Given the description of an element on the screen output the (x, y) to click on. 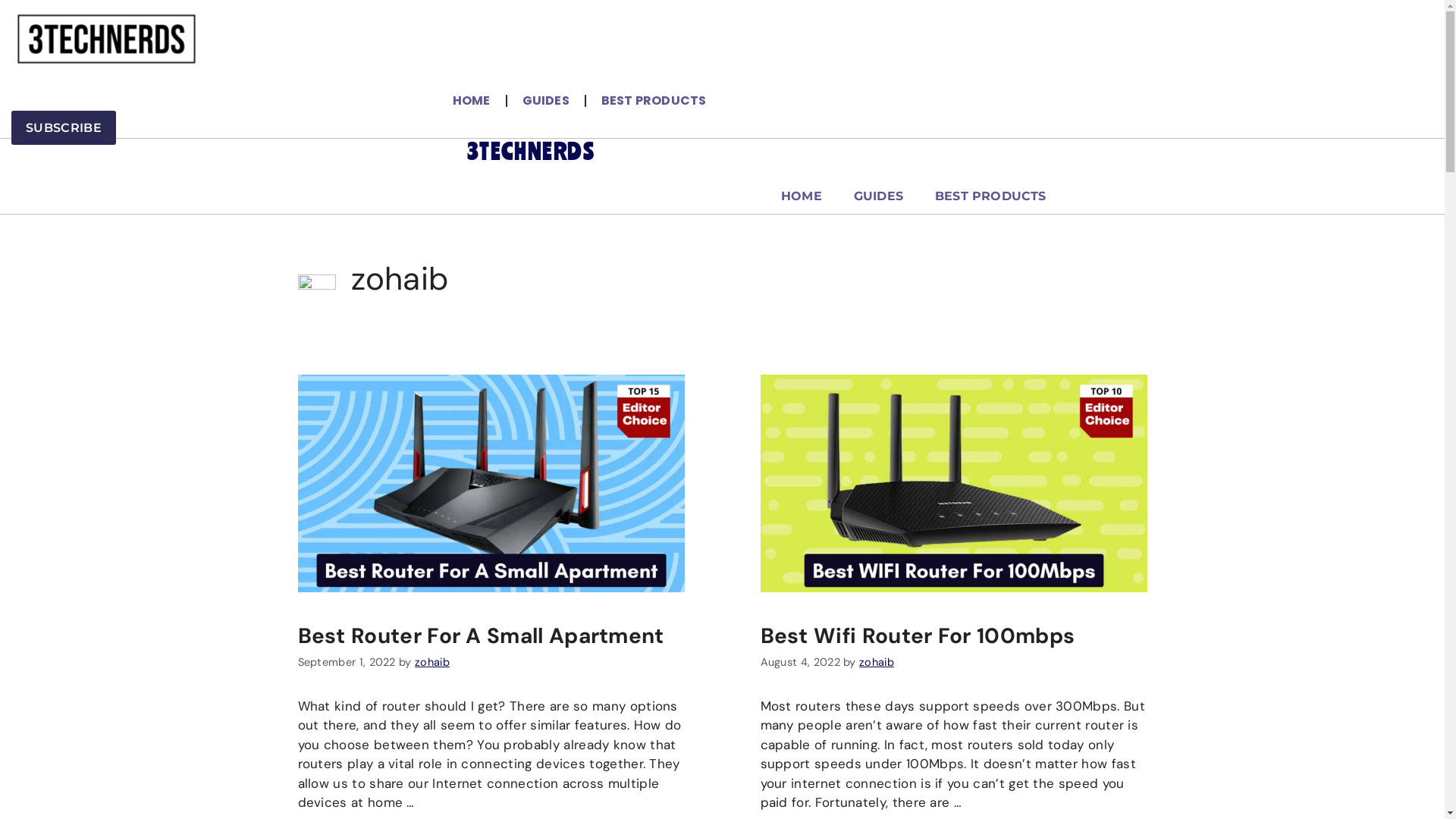
zohaib Element type: text (876, 661)
BEST PRODUCTS Element type: text (990, 195)
Best Wifi Router For 100mbps Element type: text (916, 635)
HOME Element type: text (801, 195)
BEST PRODUCTS Element type: text (653, 100)
SUBSCRIBE Element type: text (63, 127)
Best Router For A Small Apartment Element type: text (480, 635)
GUIDES Element type: text (878, 195)
zohaib Element type: text (431, 661)
GUIDES Element type: text (545, 100)
3TECHNERDS Element type: text (531, 151)
HOME Element type: text (471, 100)
